Given the description of an element on the screen output the (x, y) to click on. 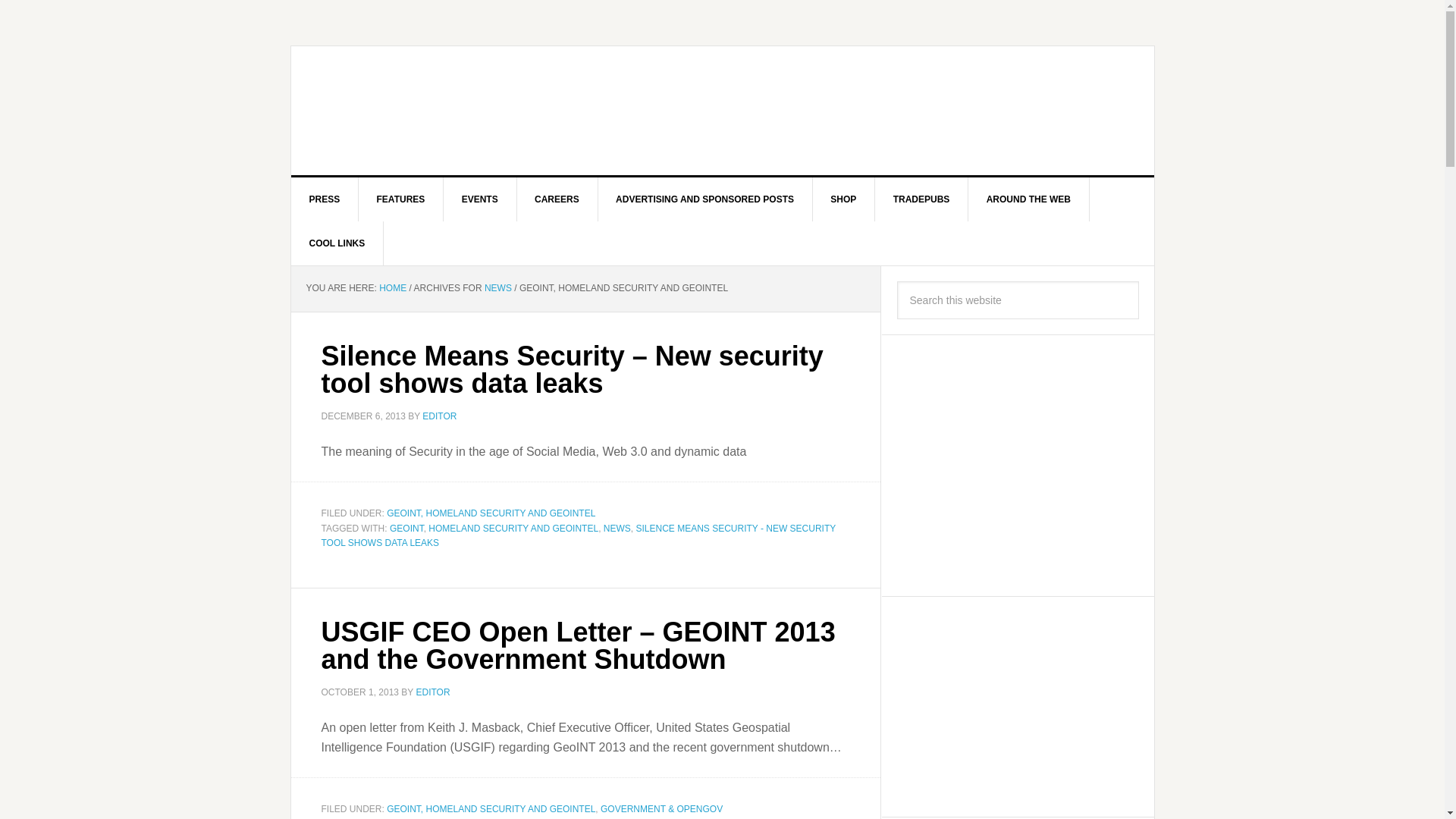
EDITOR (439, 416)
SILENCE MEANS SECURITY - NEW SECURITY TOOL SHOWS DATA LEAKS (578, 535)
NEWS (617, 528)
SHOP (843, 199)
PRESS (325, 199)
EDITOR (431, 692)
AROUND THE WEB (1028, 199)
HOME (392, 287)
GEOINT, HOMELAND SECURITY AND GEOINTEL (491, 512)
TRADEPUBS (922, 199)
NEWS (498, 287)
GIS USER TECHNOLOGY NEWS (419, 110)
GEOINT, HOMELAND SECURITY AND GEOINTEL (491, 808)
EVENTS (480, 199)
